Given the description of an element on the screen output the (x, y) to click on. 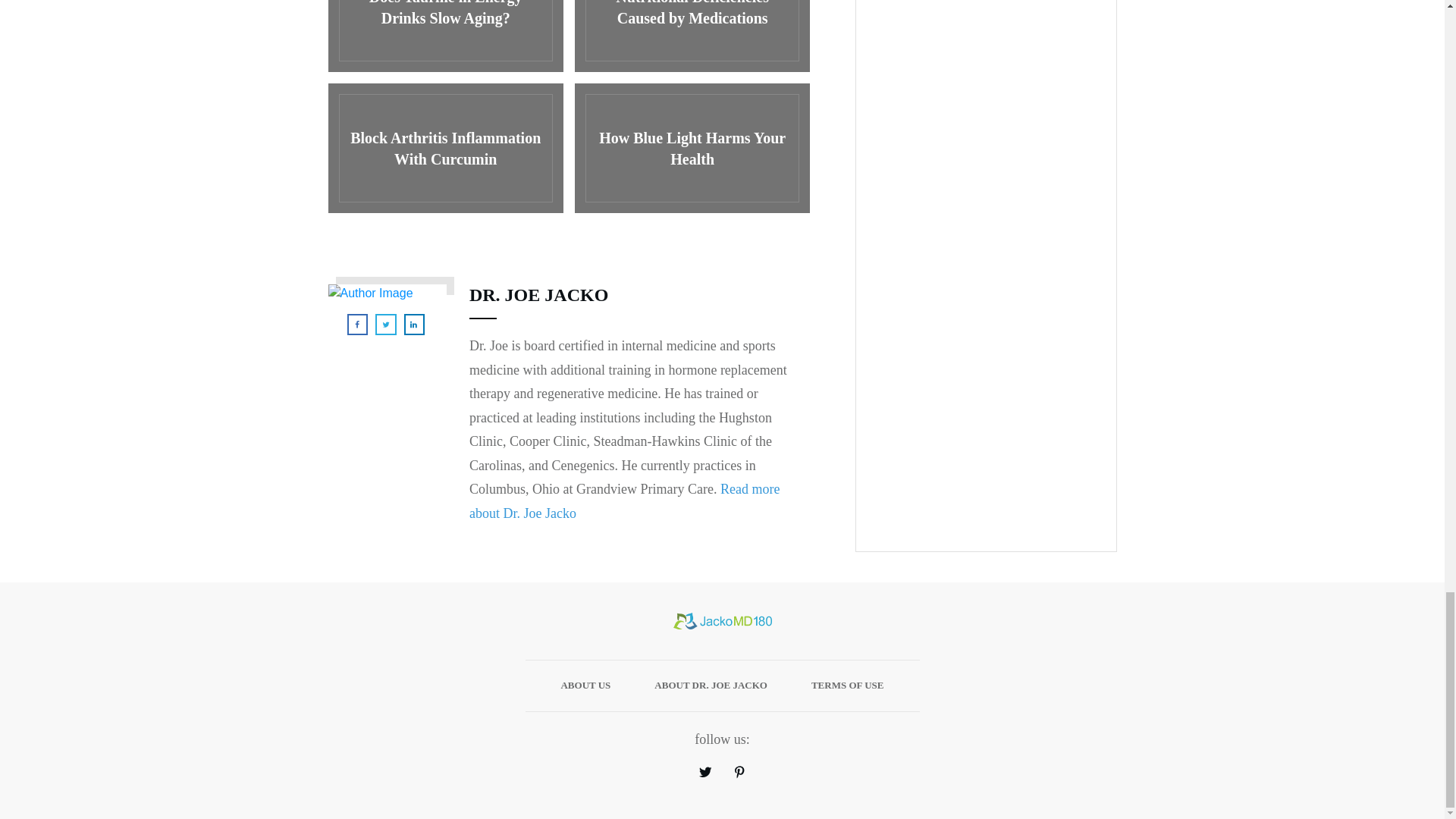
Nutritional Deficiencies Caused by Medications (692, 36)
Block Arthritis Inflammation With Curcumin (444, 147)
How Blue Light Harms Your Health (692, 147)
Does Taurine in Energy Drinks Slow Aging? (444, 36)
Read more about Dr. Joe Jacko (623, 500)
